Given the description of an element on the screen output the (x, y) to click on. 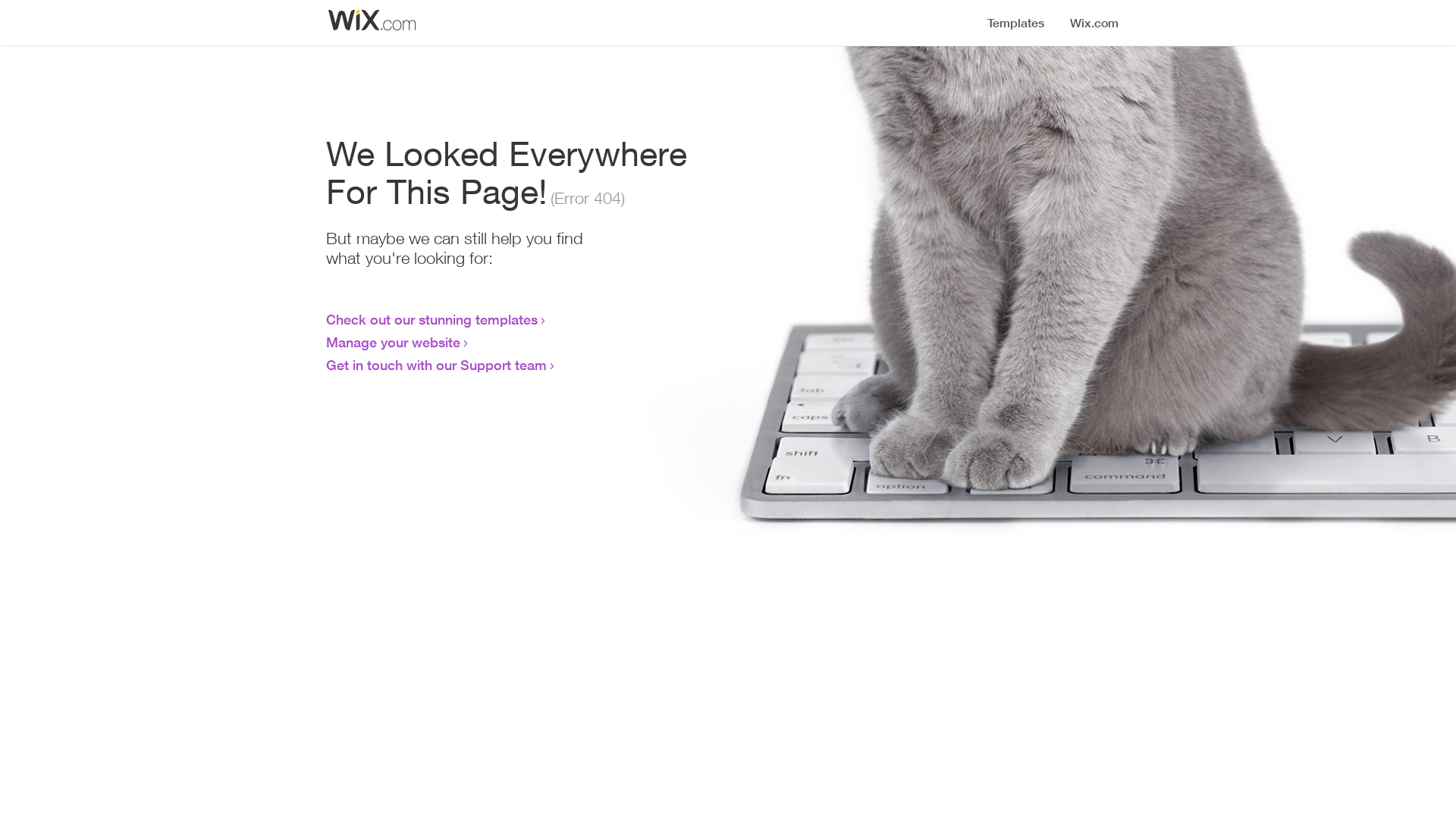
Manage your website Element type: text (393, 341)
Get in touch with our Support team Element type: text (436, 364)
Check out our stunning templates Element type: text (431, 318)
